Given the description of an element on the screen output the (x, y) to click on. 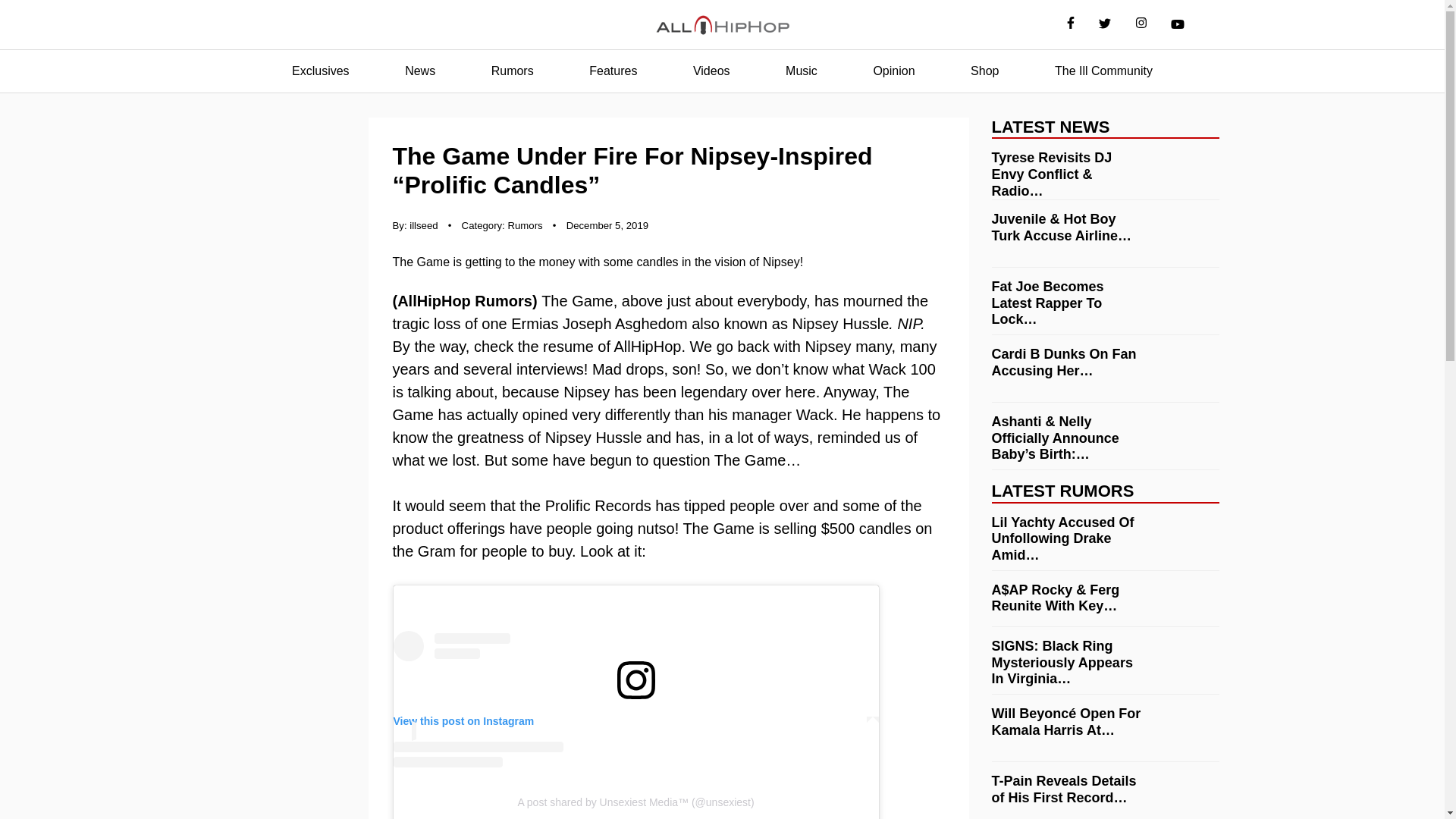
Features (612, 70)
News (419, 70)
Rumors (512, 70)
Exclusives (320, 70)
December 5, 2019 (607, 225)
The Ill Community (1103, 70)
Videos (711, 70)
Opinion (893, 70)
illseed (423, 225)
Shop (984, 70)
